Given the description of an element on the screen output the (x, y) to click on. 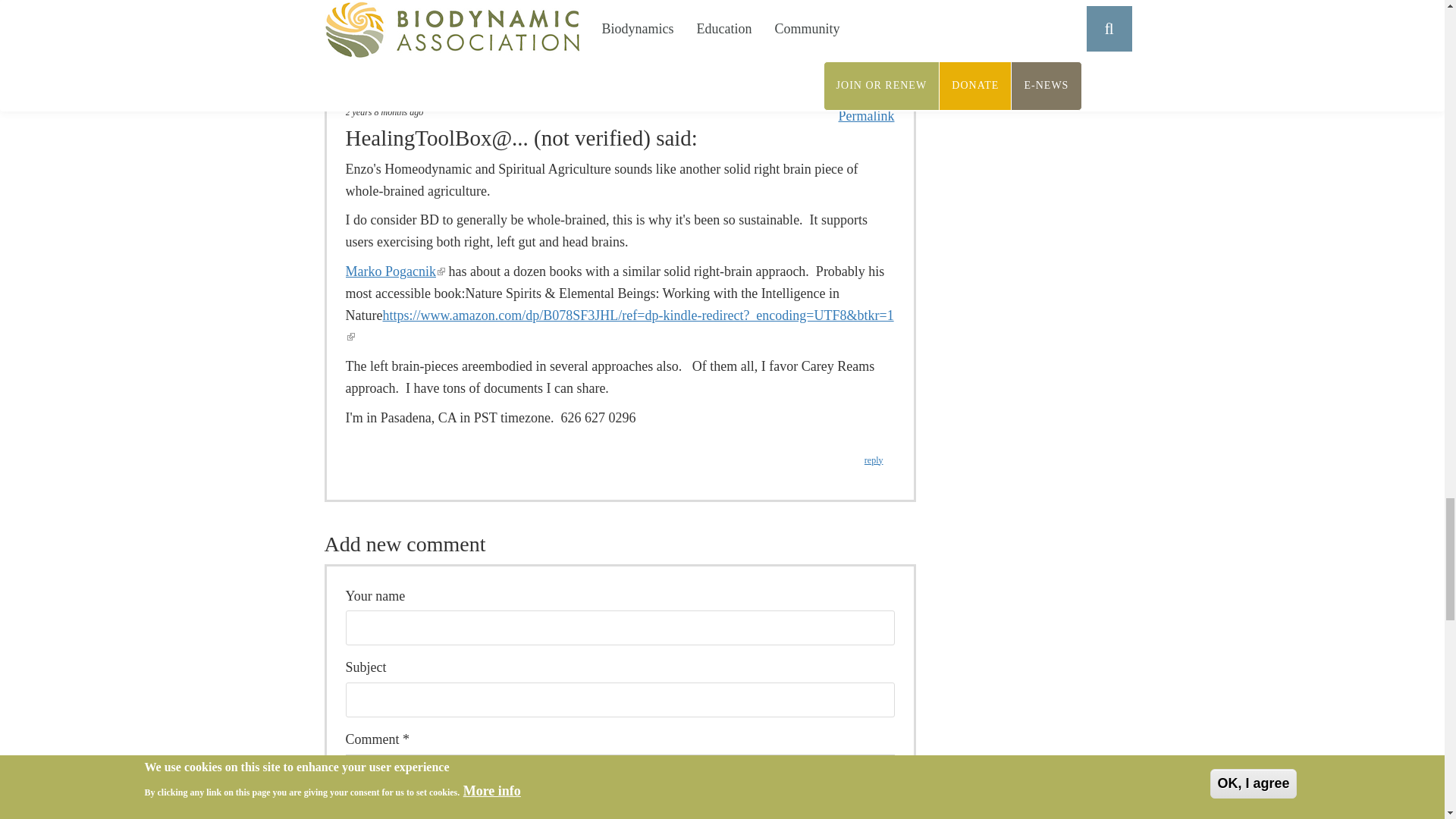
Strikethrough (425, 770)
Justify (447, 770)
Image (553, 770)
